Given the description of an element on the screen output the (x, y) to click on. 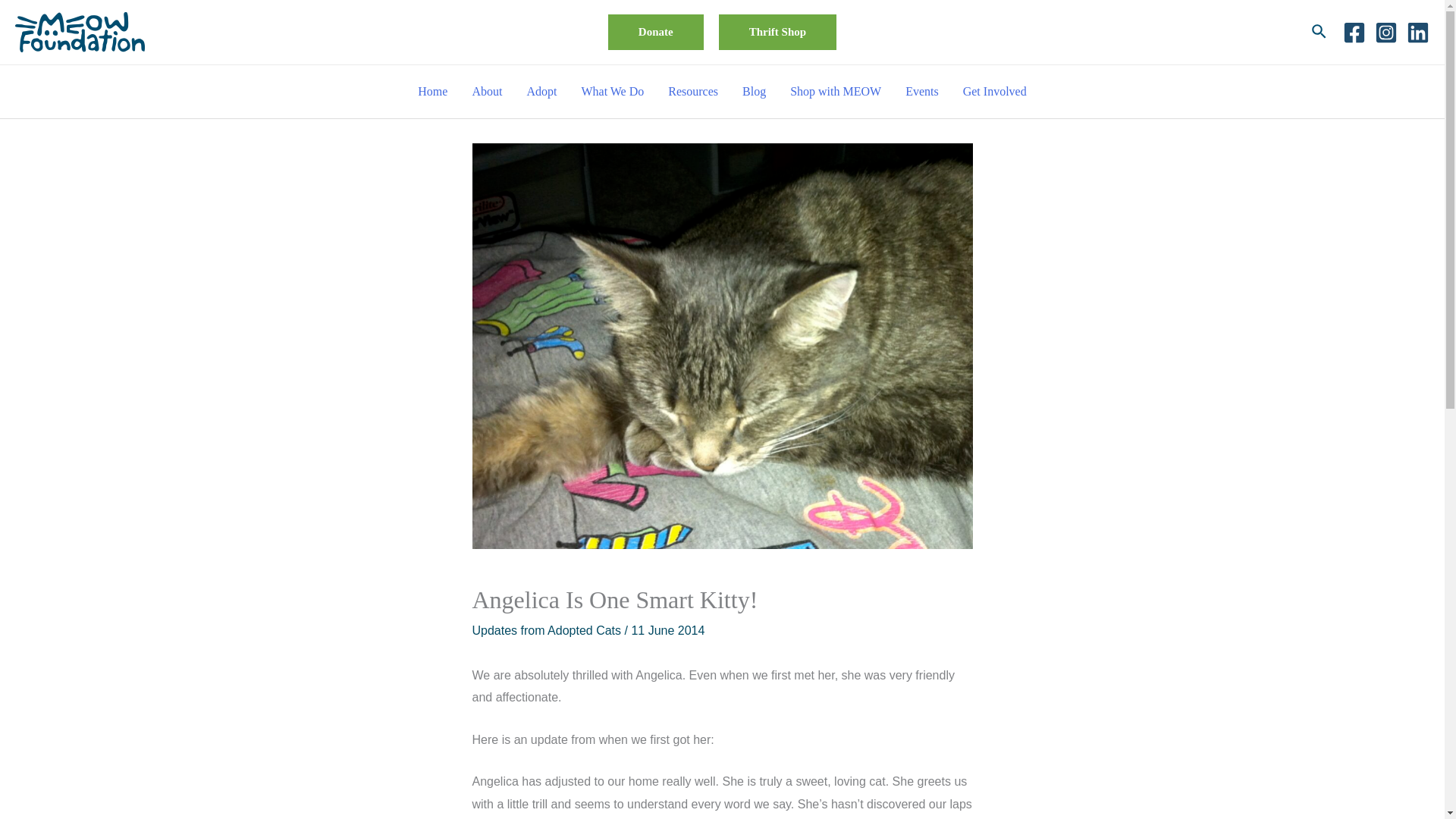
Thrift Shop (777, 32)
Adopt (541, 91)
Home (433, 91)
Resources (693, 91)
What We Do (612, 91)
Donate (655, 32)
About (486, 91)
